Given the description of an element on the screen output the (x, y) to click on. 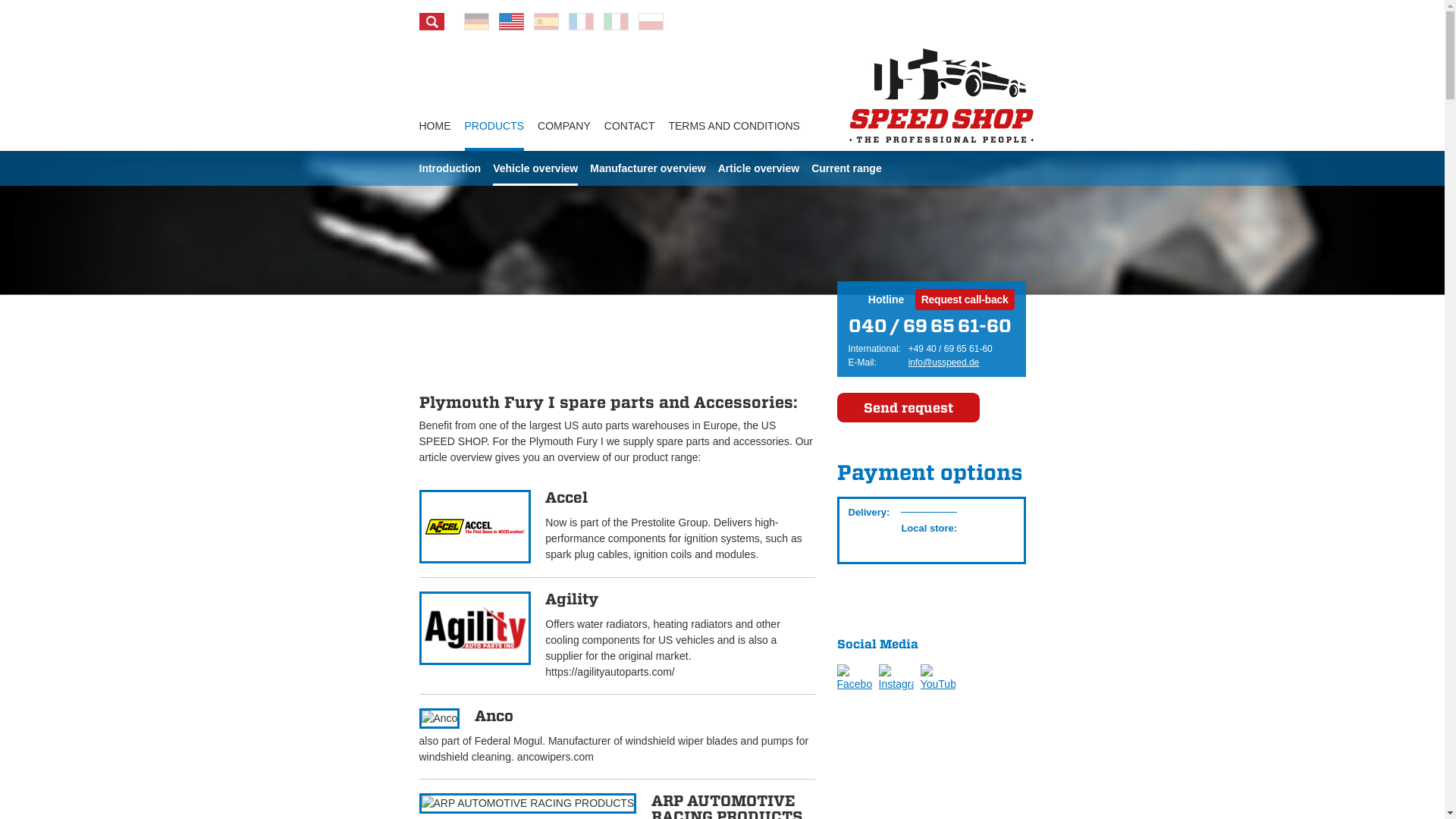
CONTACT (629, 125)
Request call-back (964, 299)
Vehicle overview (535, 167)
Introduction (449, 167)
TERMS AND CONDITIONS (733, 125)
Article overview (758, 167)
Current range (846, 167)
PRODUCTS (494, 125)
Manufacturer overview (647, 167)
COMPANY (564, 125)
